Given the description of an element on the screen output the (x, y) to click on. 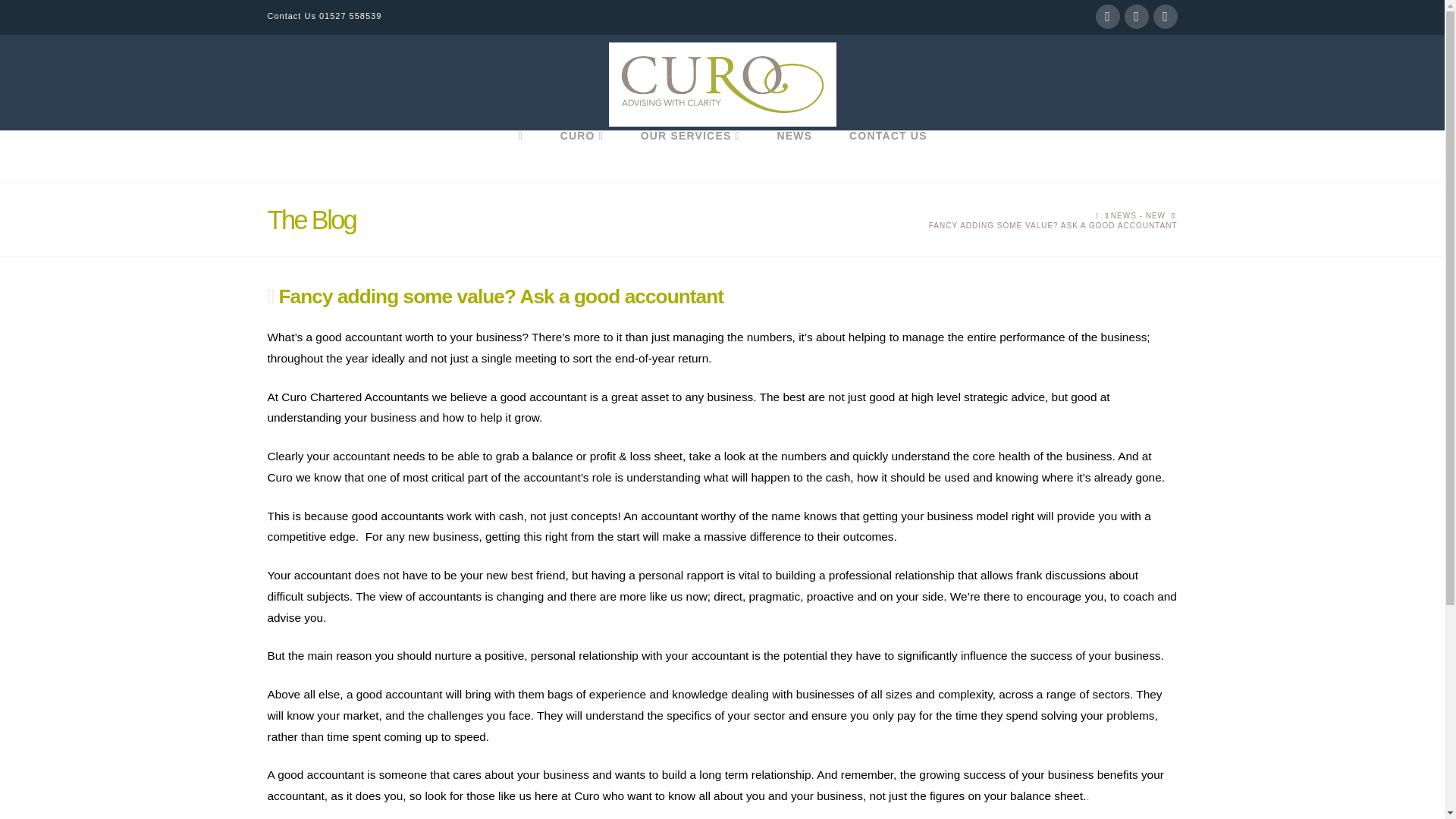
LinkedIn (1136, 16)
CONTACT US (886, 156)
Instagram (1164, 16)
You Are Here (1052, 225)
CURO (581, 156)
OUR SERVICES (689, 156)
NEWS (793, 156)
